Given the description of an element on the screen output the (x, y) to click on. 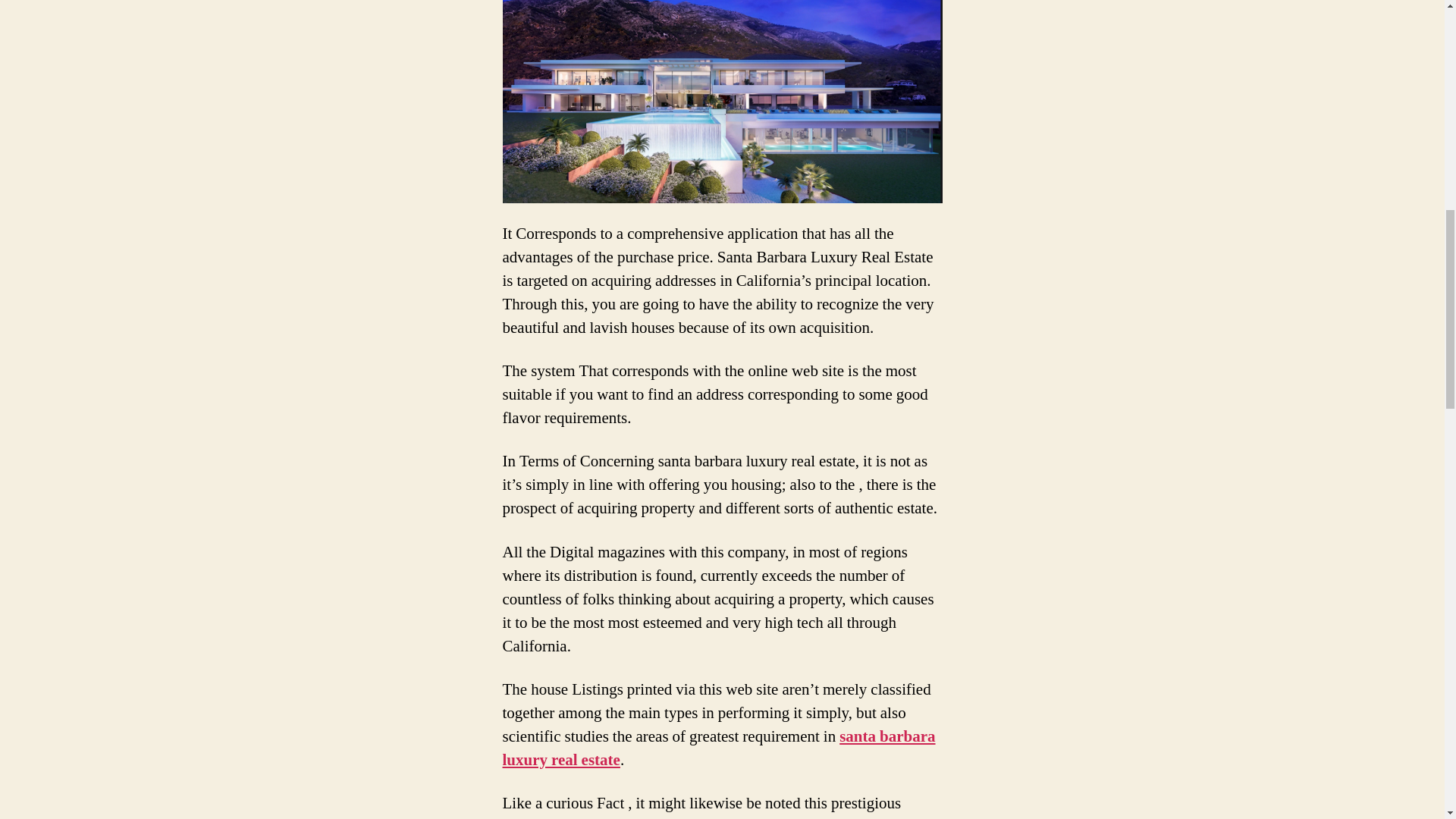
santa barbara luxury real estate (718, 748)
